Given the description of an element on the screen output the (x, y) to click on. 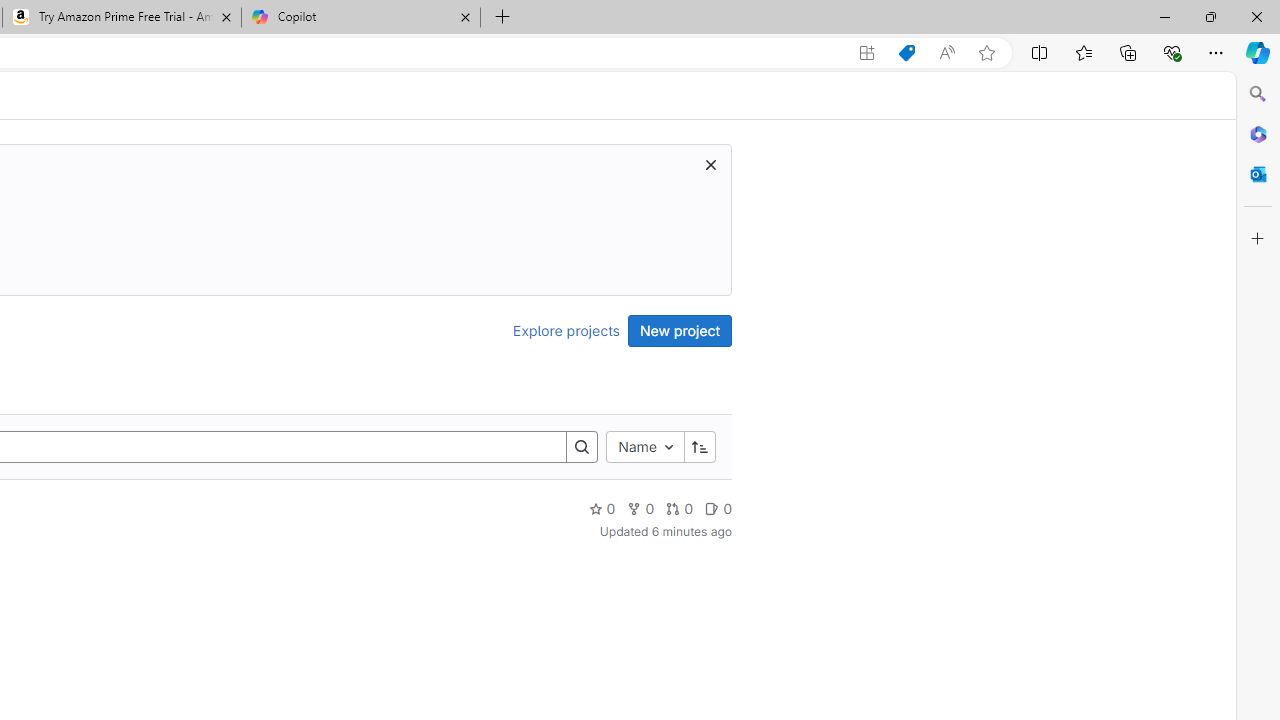
Dismiss trial promotion (710, 164)
0 (718, 508)
Class: s14 gl-mr-2 (712, 508)
Sort direction: Ascending (699, 445)
Class: s16 gl-icon gl-button-icon  (710, 164)
